Given the description of an element on the screen output the (x, y) to click on. 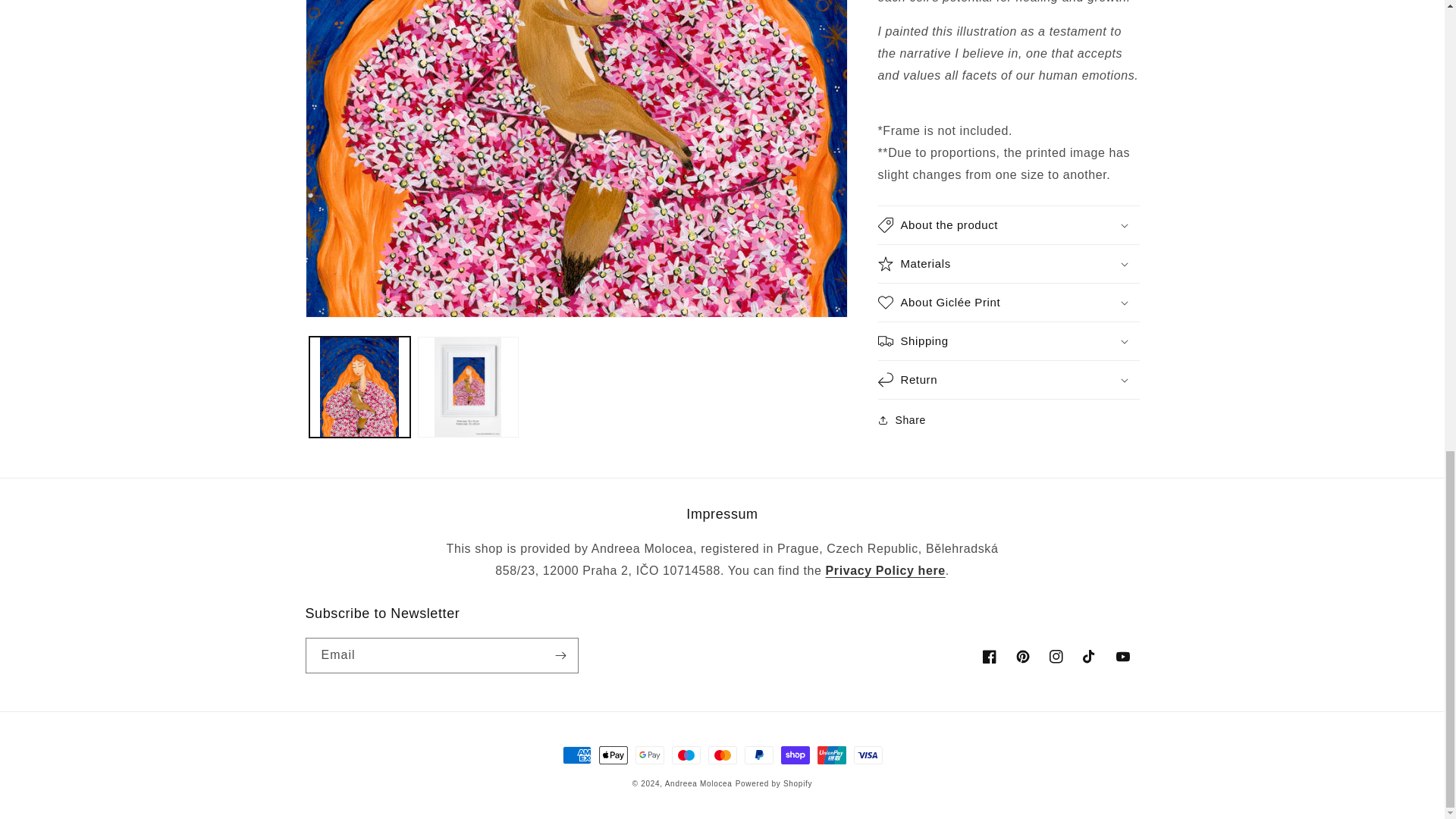
Privacy Policy (884, 570)
